Given the description of an element on the screen output the (x, y) to click on. 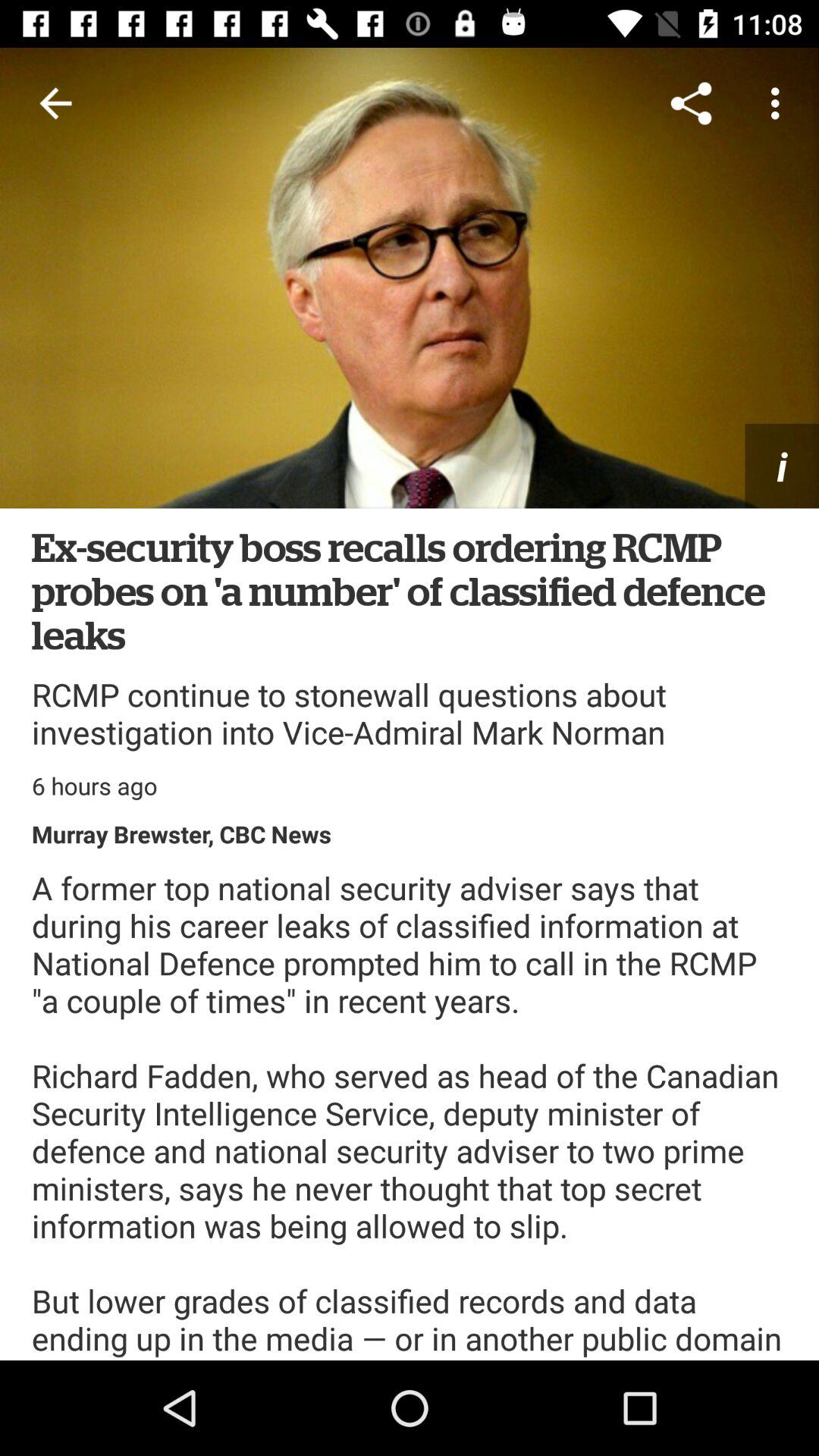
tap the icon above the ex security boss (782, 465)
